Given the description of an element on the screen output the (x, y) to click on. 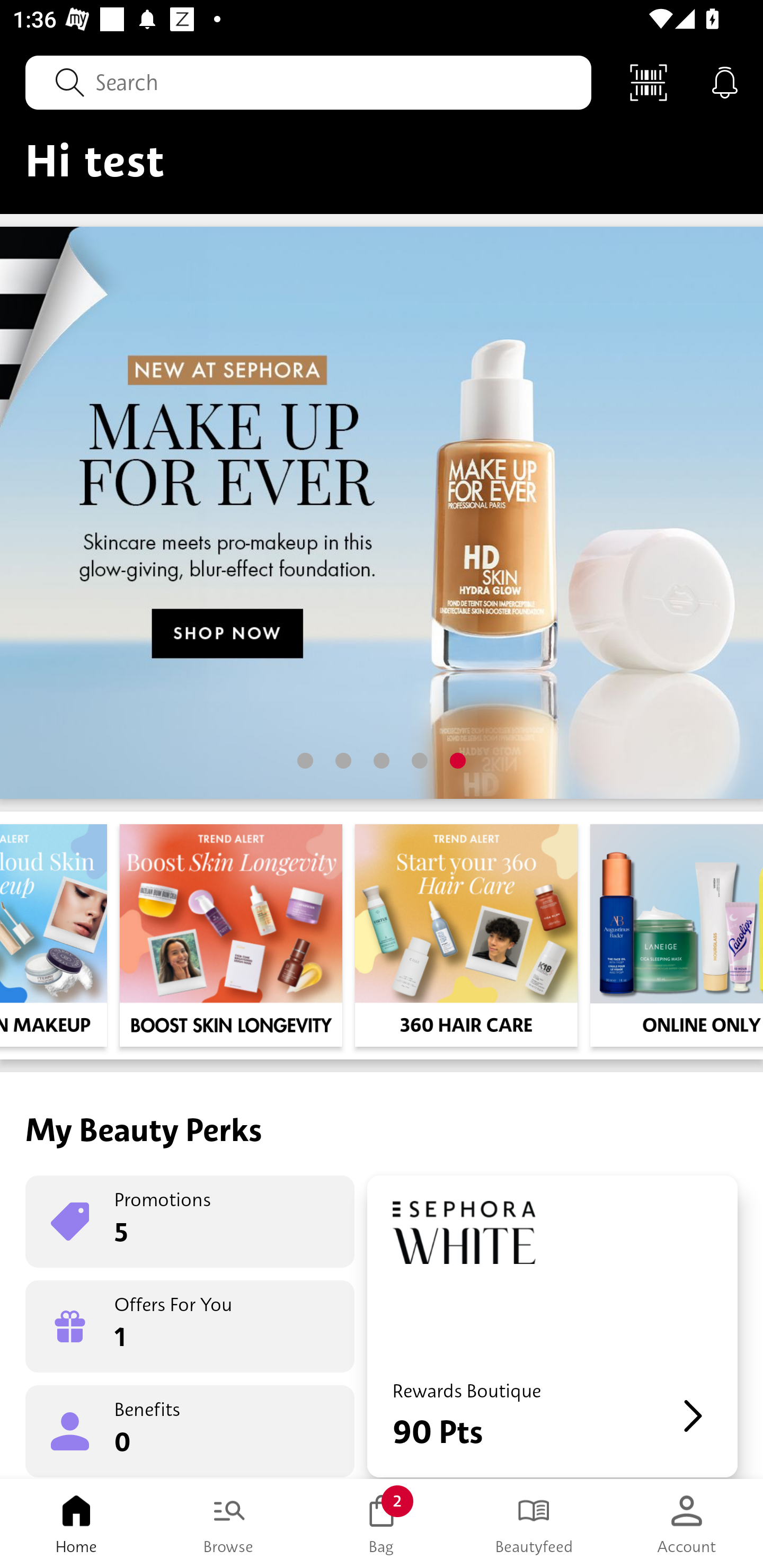
Scan Code (648, 81)
Notifications (724, 81)
Search (308, 81)
Promotions 5 (189, 1221)
Rewards Boutique 90 Pts (552, 1326)
Offers For You 1 (189, 1326)
Benefits 0 (189, 1430)
Browse (228, 1523)
Bag 2 Bag (381, 1523)
Beautyfeed (533, 1523)
Account (686, 1523)
